Given the description of an element on the screen output the (x, y) to click on. 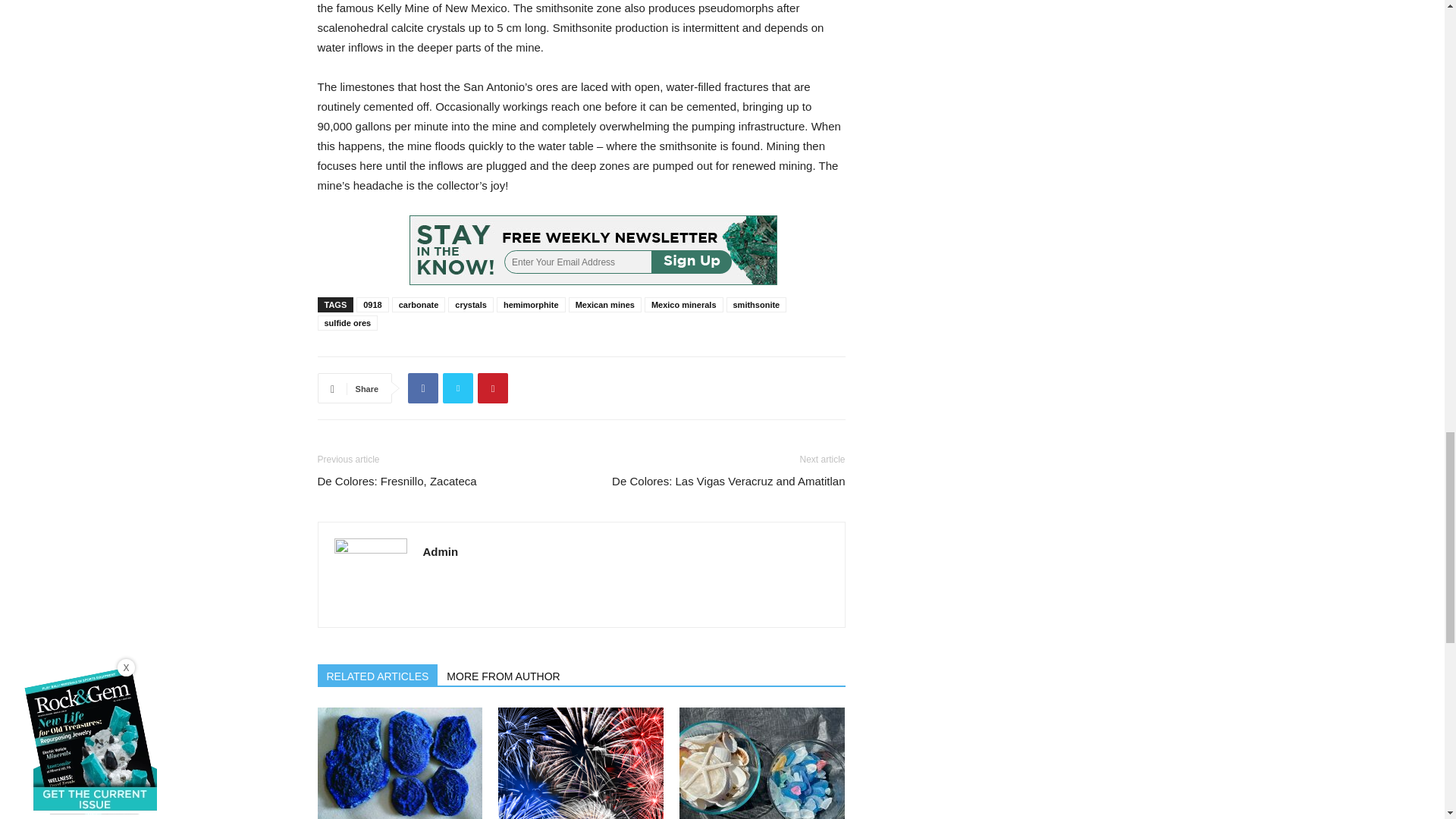
Please enter valid email-id ! (593, 250)
Thank You for Subscribing ! (593, 250)
